Given the description of an element on the screen output the (x, y) to click on. 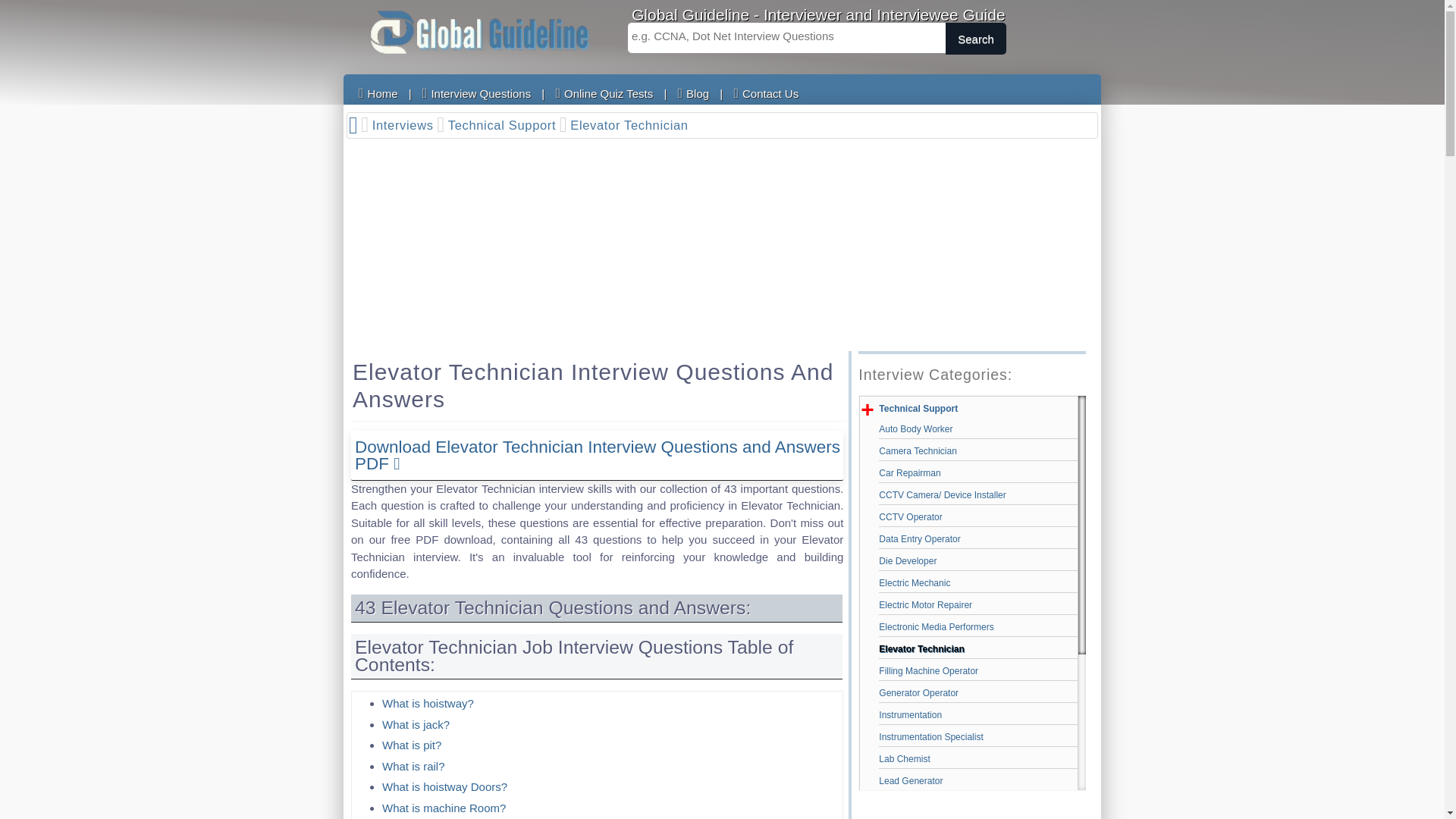
Home (378, 92)
Global Guideline (479, 31)
What is rail? (413, 766)
What is jack? (415, 723)
Search (975, 38)
Elevator Technician (630, 125)
Interview Questions (476, 92)
Blog (693, 92)
What is hoistway? (427, 703)
